Given the description of an element on the screen output the (x, y) to click on. 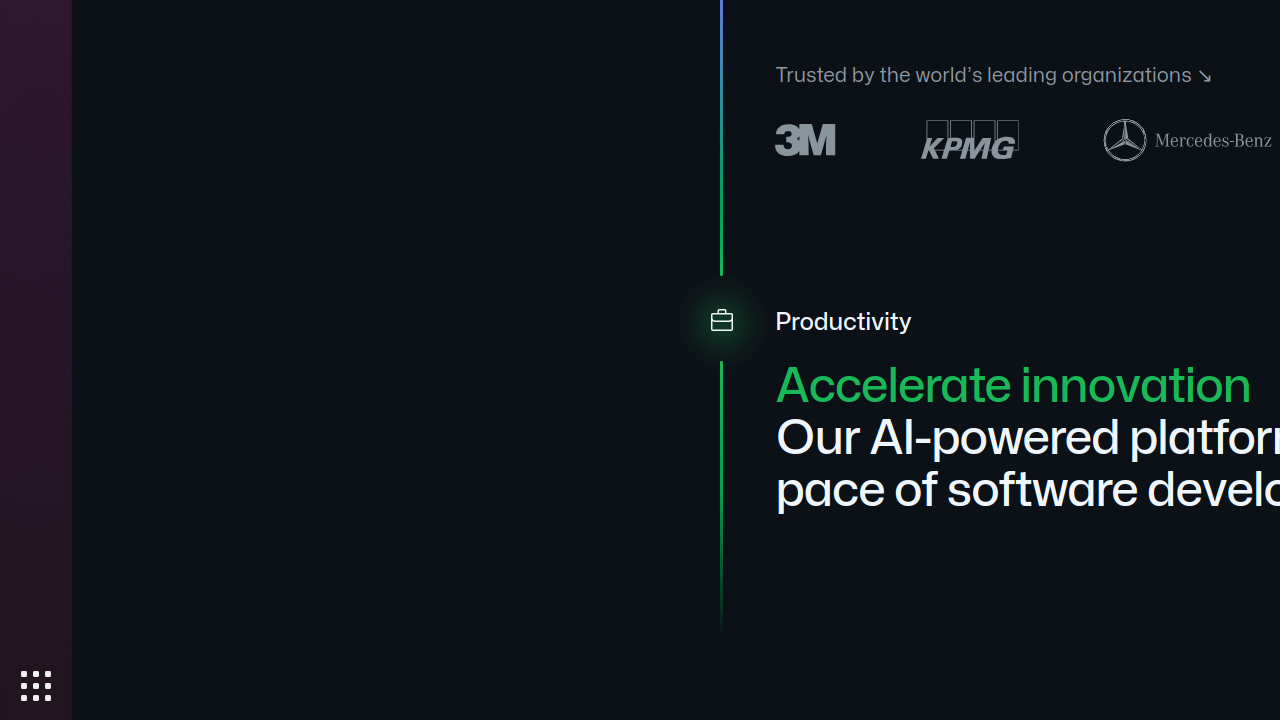
Show Applications Element type: toggle-button (36, 686)
